Given the description of an element on the screen output the (x, y) to click on. 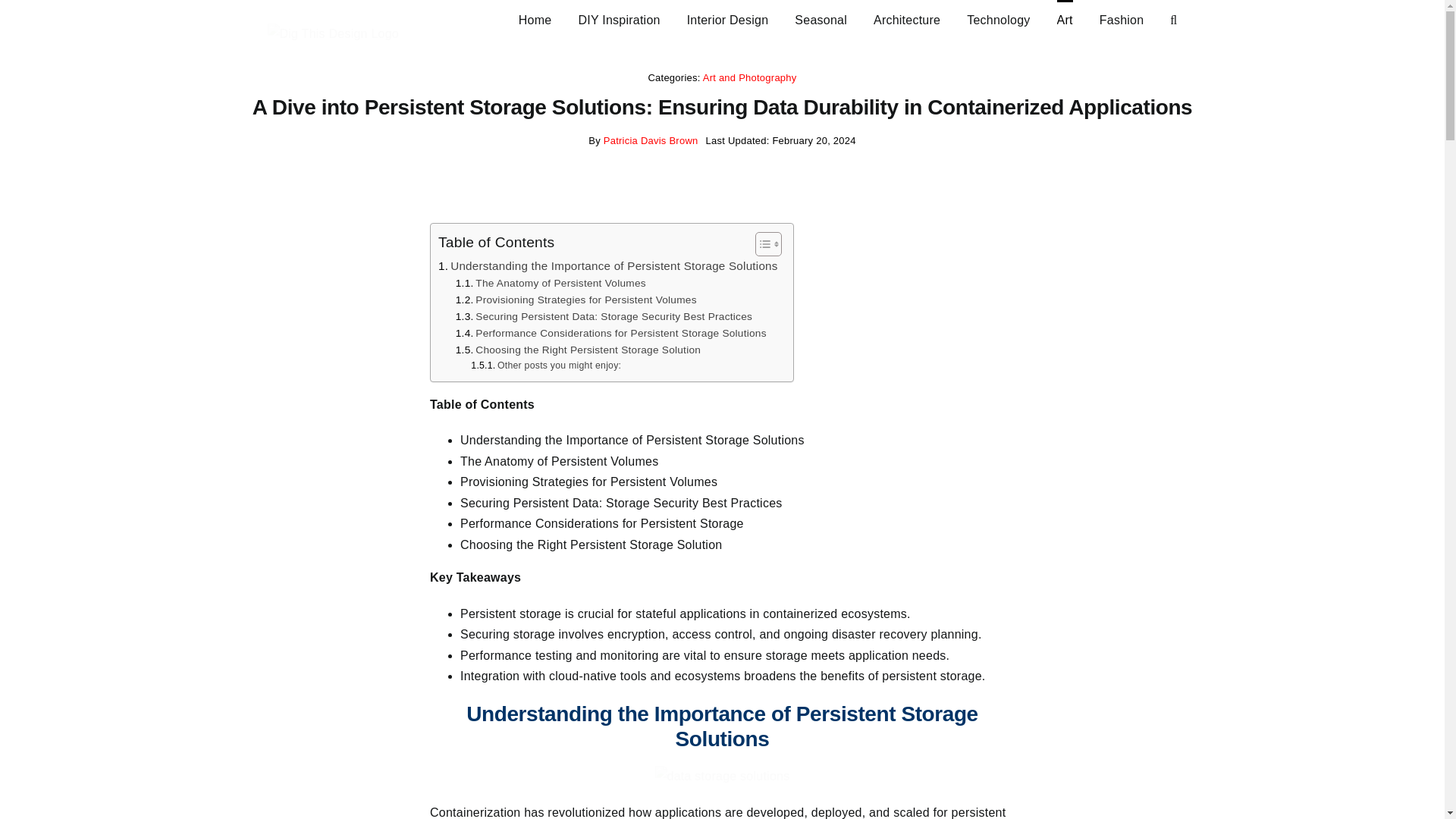
Architecture (906, 18)
Interior Design (727, 18)
interior-design (727, 18)
diy-inspiration (618, 18)
Seasonal (820, 18)
DIY Inspiration (618, 18)
